Given the description of an element on the screen output the (x, y) to click on. 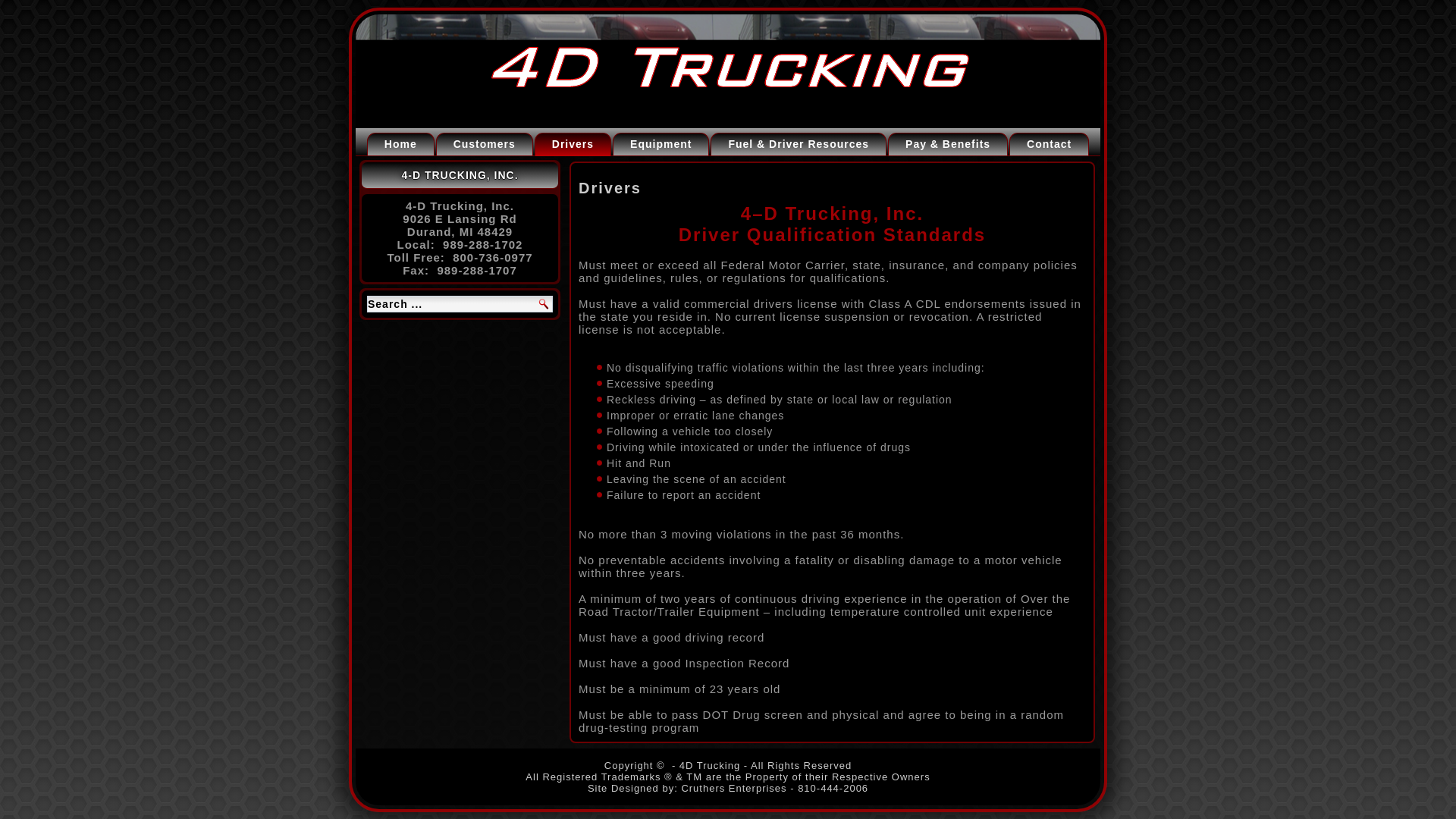
Drivers (572, 144)
Equipment (660, 143)
Home (399, 143)
Customers (483, 143)
Contact (1049, 143)
Search ... (459, 303)
